Given the description of an element on the screen output the (x, y) to click on. 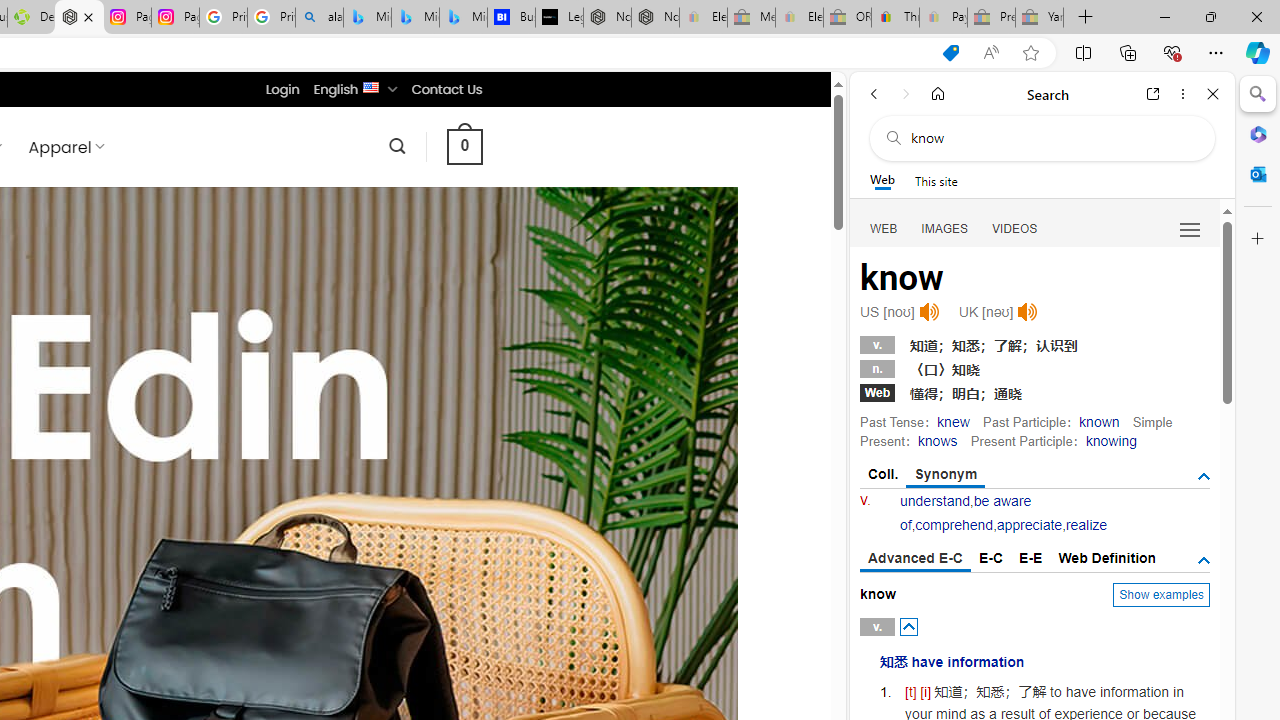
Contact Us (446, 89)
Synonym (945, 475)
AutomationID: tgdef (1203, 561)
